Given the description of an element on the screen output the (x, y) to click on. 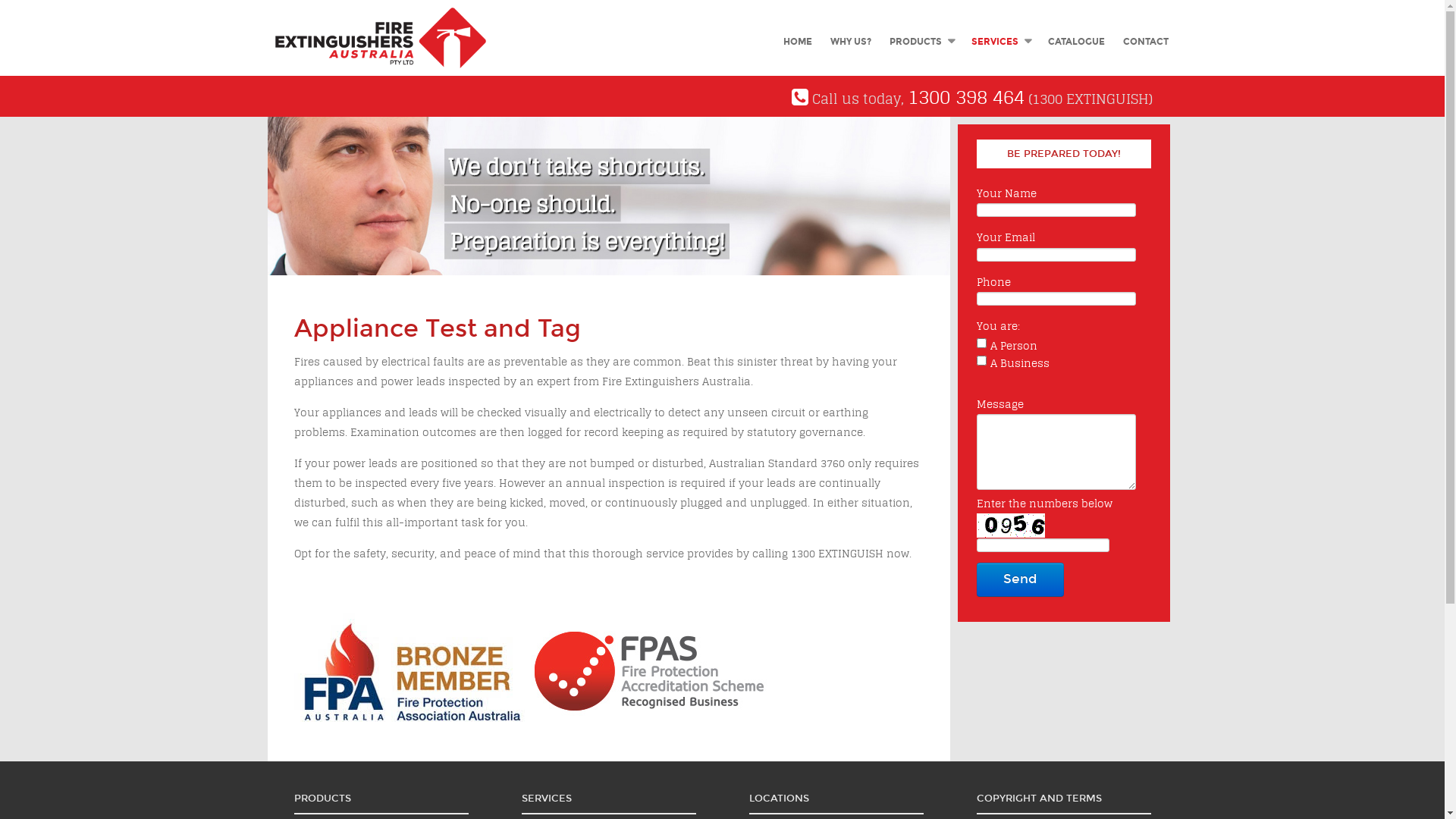
Send Element type: text (1019, 579)
CONTACT Element type: text (1144, 41)
HOME Element type: text (796, 41)
CATALOGUE Element type: text (1075, 41)
PRODUCTS Element type: text (920, 41)
1300 398 464 Element type: text (965, 96)
WHY US? Element type: text (849, 41)
SERVICES Element type: text (999, 41)
